Given the description of an element on the screen output the (x, y) to click on. 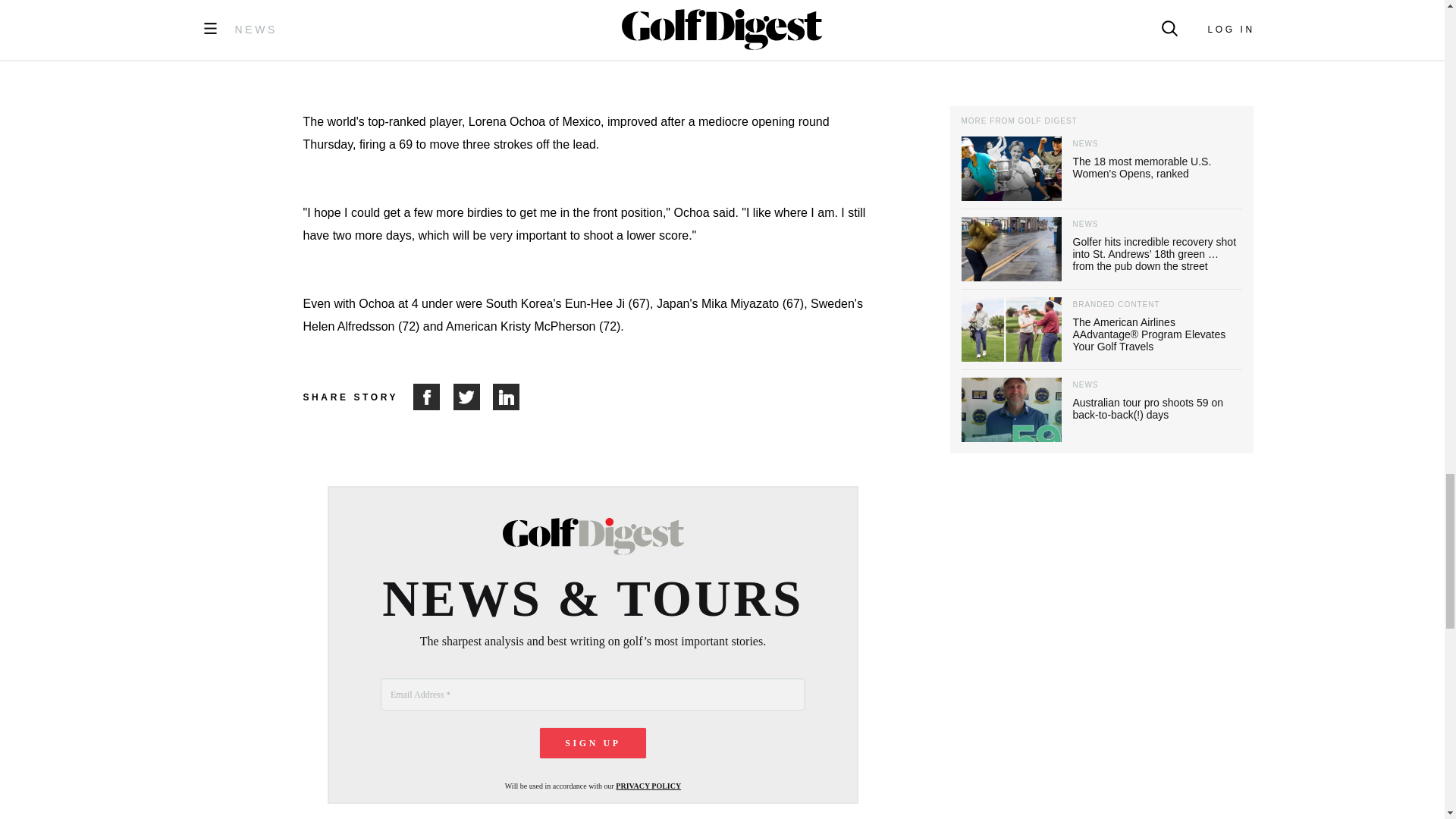
Share on Facebook (432, 397)
Share on Twitter (472, 397)
Share on LinkedIn (506, 397)
Sign up (593, 743)
